Given the description of an element on the screen output the (x, y) to click on. 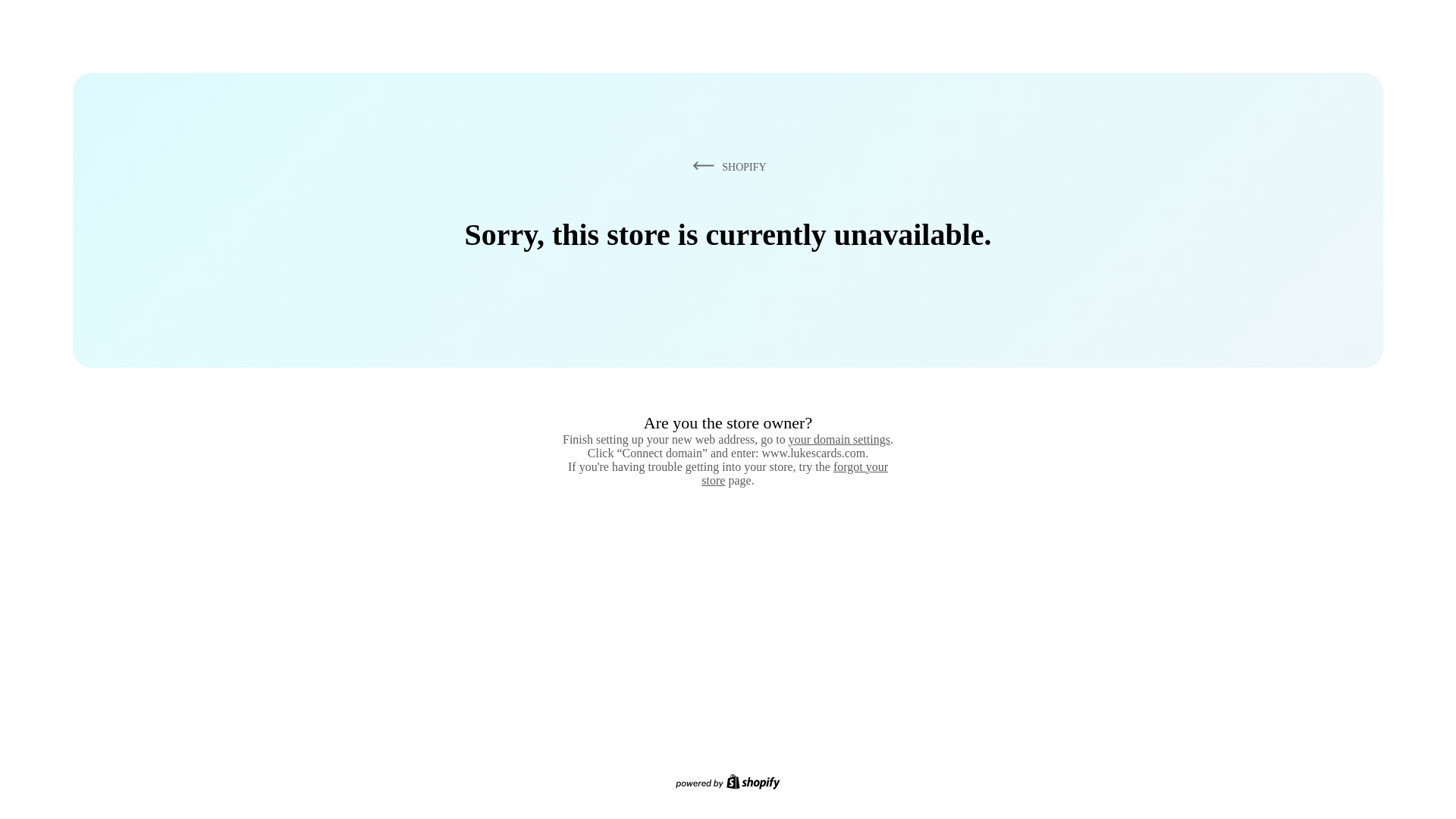
SHOPIFY (726, 166)
forgot your store (794, 473)
your domain settings (839, 439)
